Given the description of an element on the screen output the (x, y) to click on. 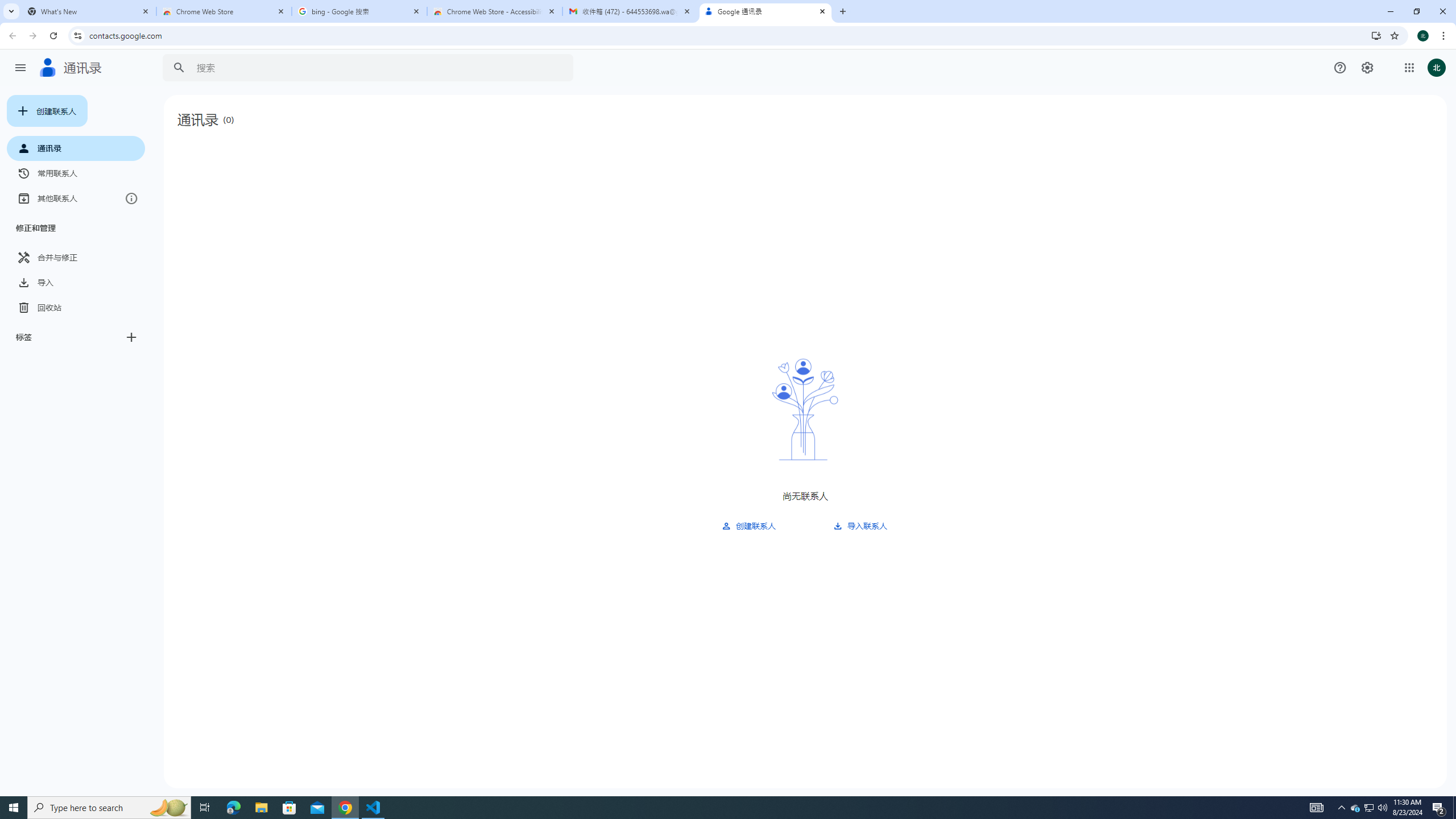
Chrome Web Store (224, 11)
Install Google Contacts (1376, 35)
